Given the description of an element on the screen output the (x, y) to click on. 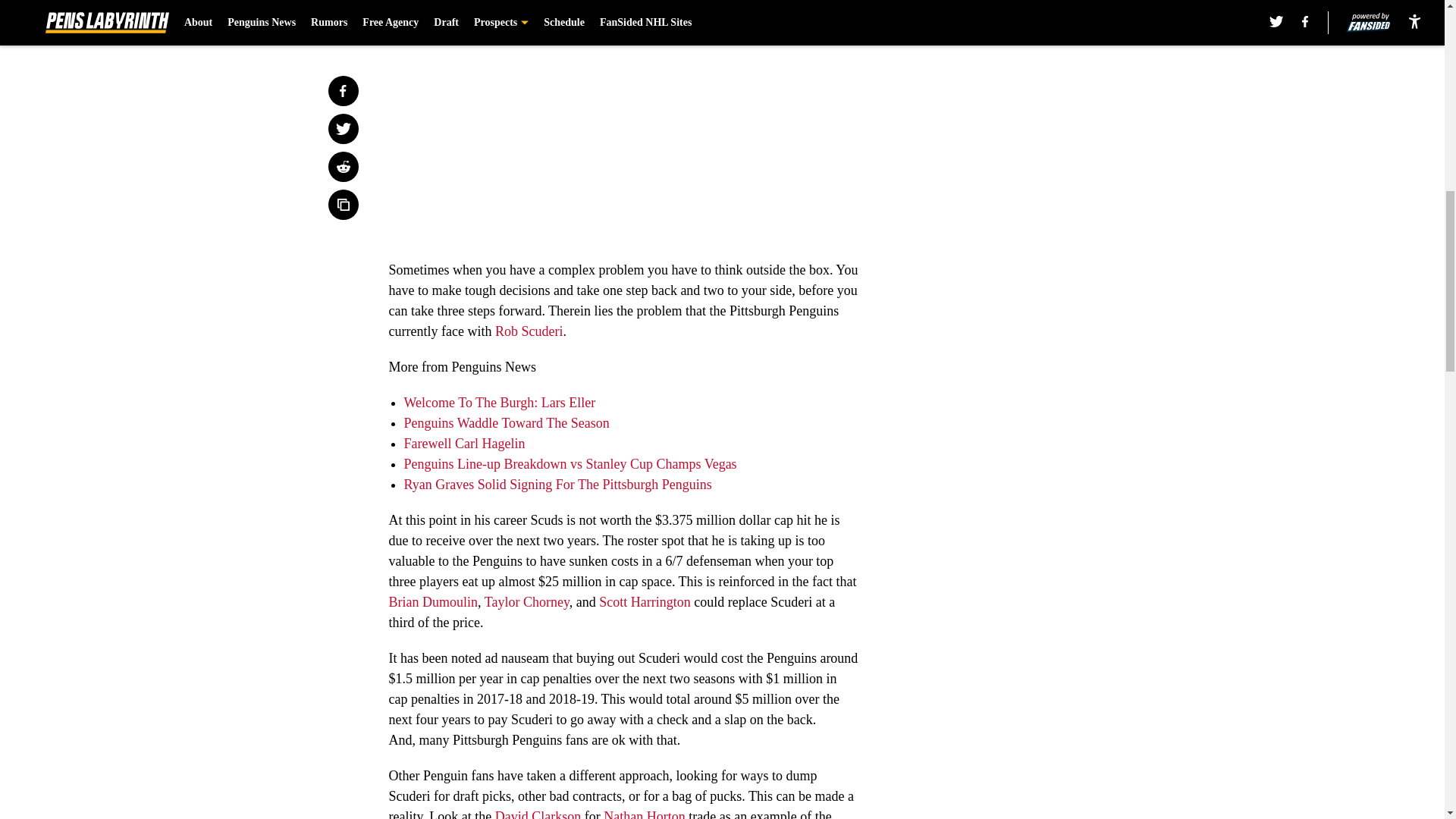
Welcome To The Burgh: Lars Eller (499, 402)
Penguins Line-up Breakdown vs Stanley Cup Champs Vegas (569, 463)
David Clarkson (537, 814)
Taylor Chorney (526, 601)
Brian Dumoulin (432, 601)
Rob Scuderi (529, 331)
Farewell Carl Hagelin (463, 443)
Nathan Horton (644, 814)
Ryan Graves Solid Signing For The Pittsburgh Penguins (557, 484)
Scott Harrington (644, 601)
Penguins Waddle Toward The Season (505, 422)
